Given the description of an element on the screen output the (x, y) to click on. 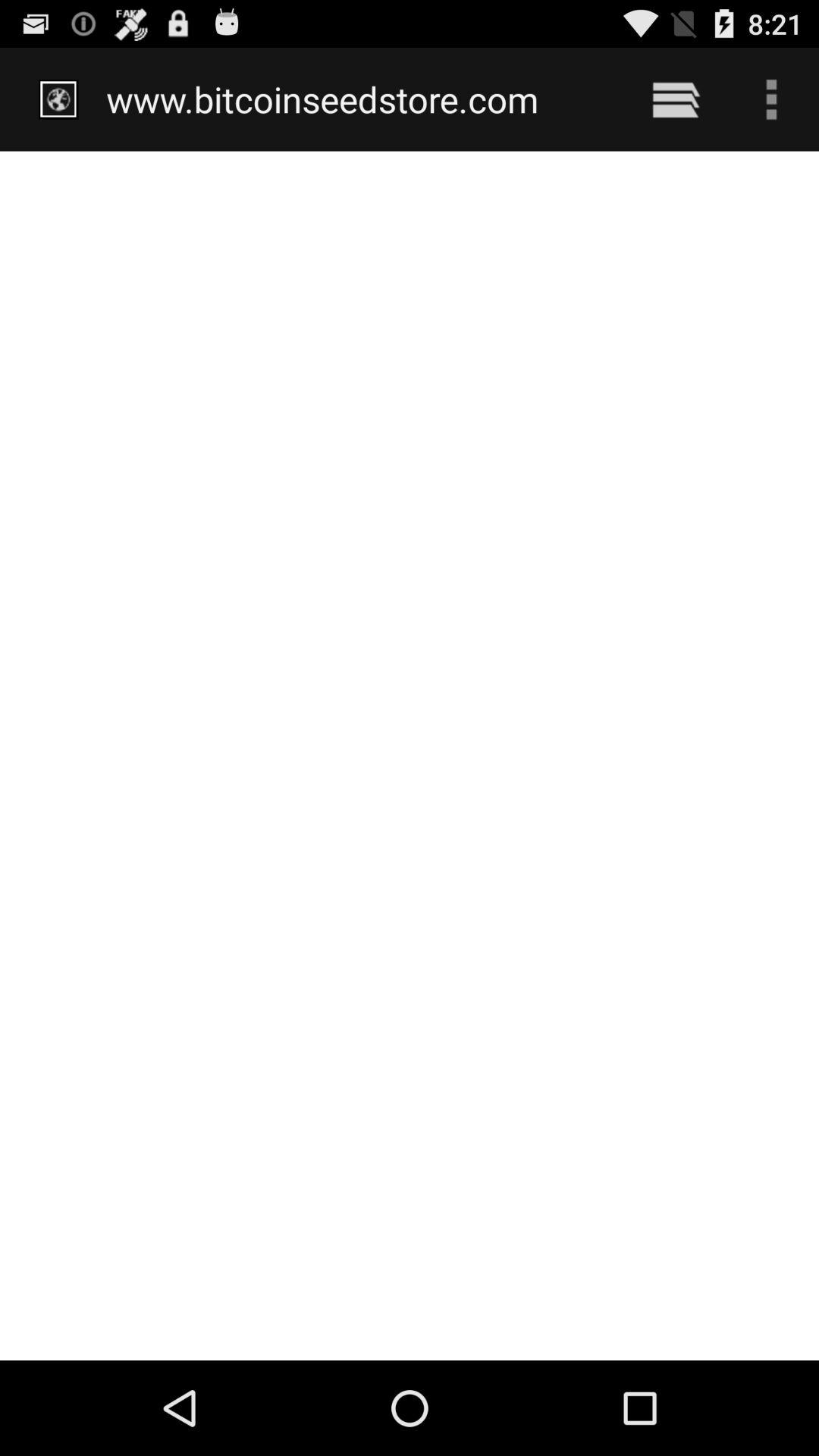
launch the www.bitcoinseedstore.com (357, 99)
